Given the description of an element on the screen output the (x, y) to click on. 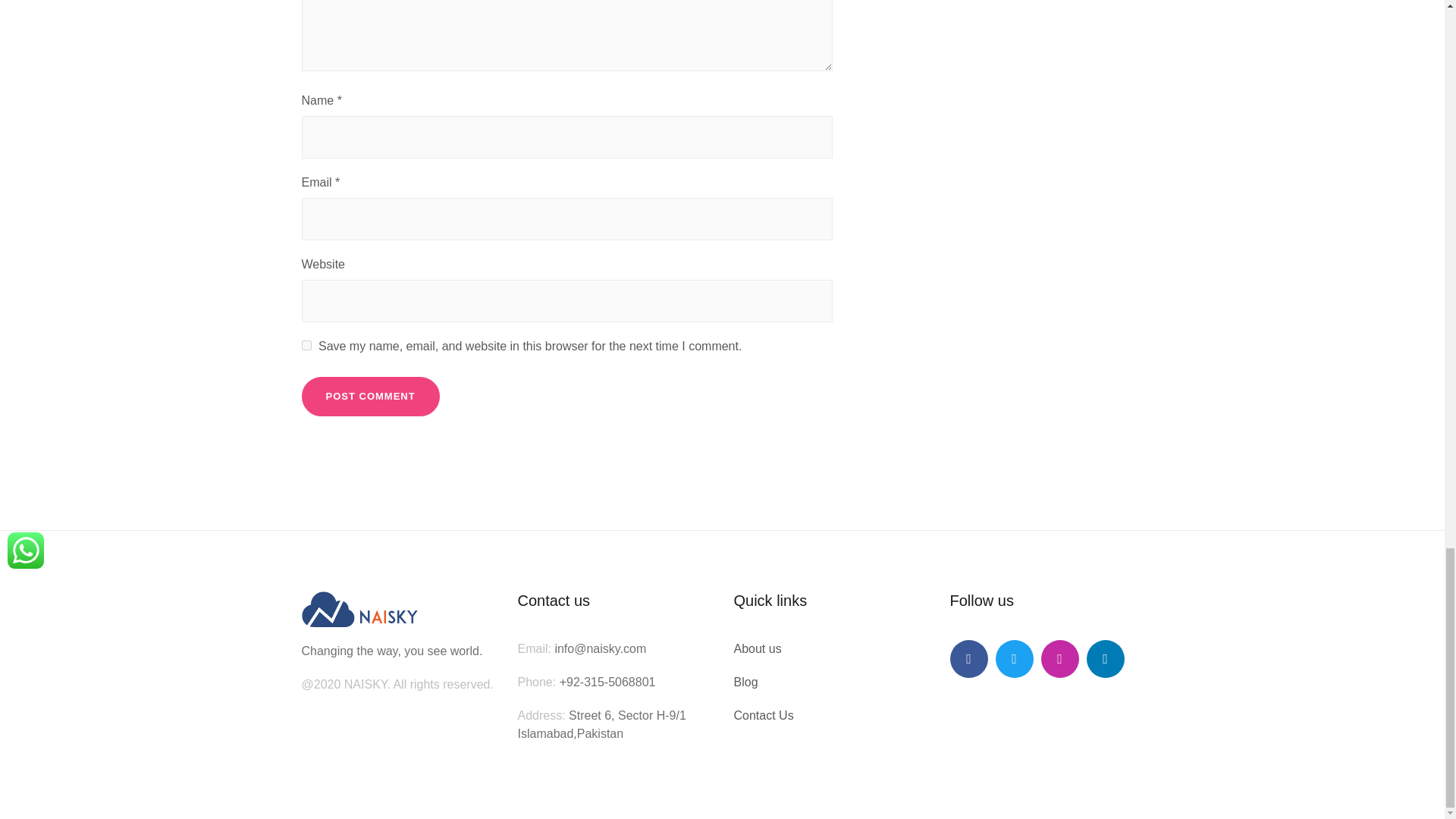
Contact Us (763, 715)
Post Comment (370, 396)
yes (306, 345)
Blog (745, 681)
Post Comment (370, 396)
About us (757, 648)
